Given the description of an element on the screen output the (x, y) to click on. 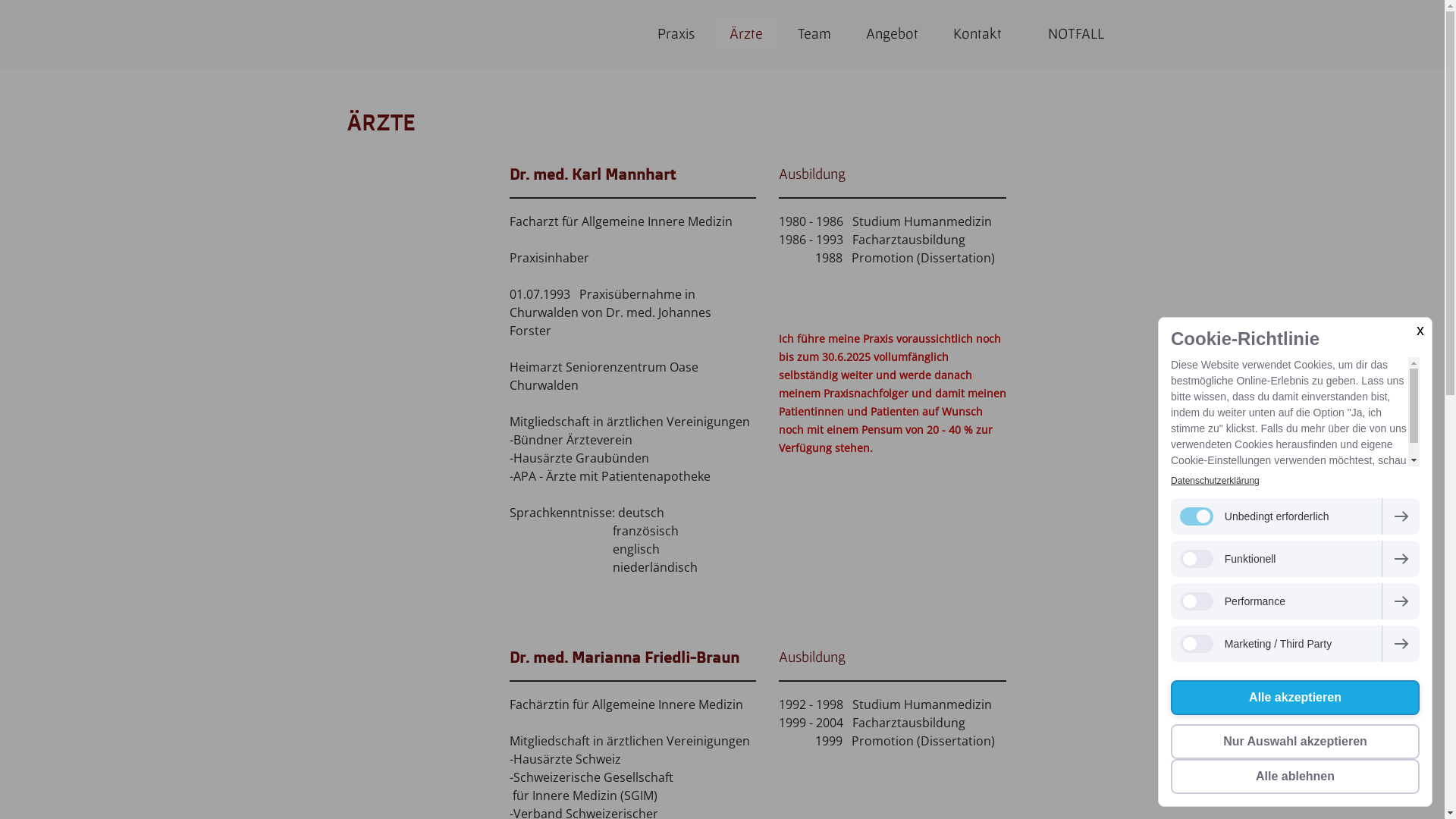
Praxis Element type: text (675, 34)
Angebot Element type: text (891, 34)
Team Element type: text (814, 34)
Kontakt Element type: text (976, 34)
Nur Auswahl akzeptieren Element type: text (1294, 741)
Alle akzeptieren Element type: text (1294, 697)
Alle ablehnen Element type: text (1294, 776)
